Given the description of an element on the screen output the (x, y) to click on. 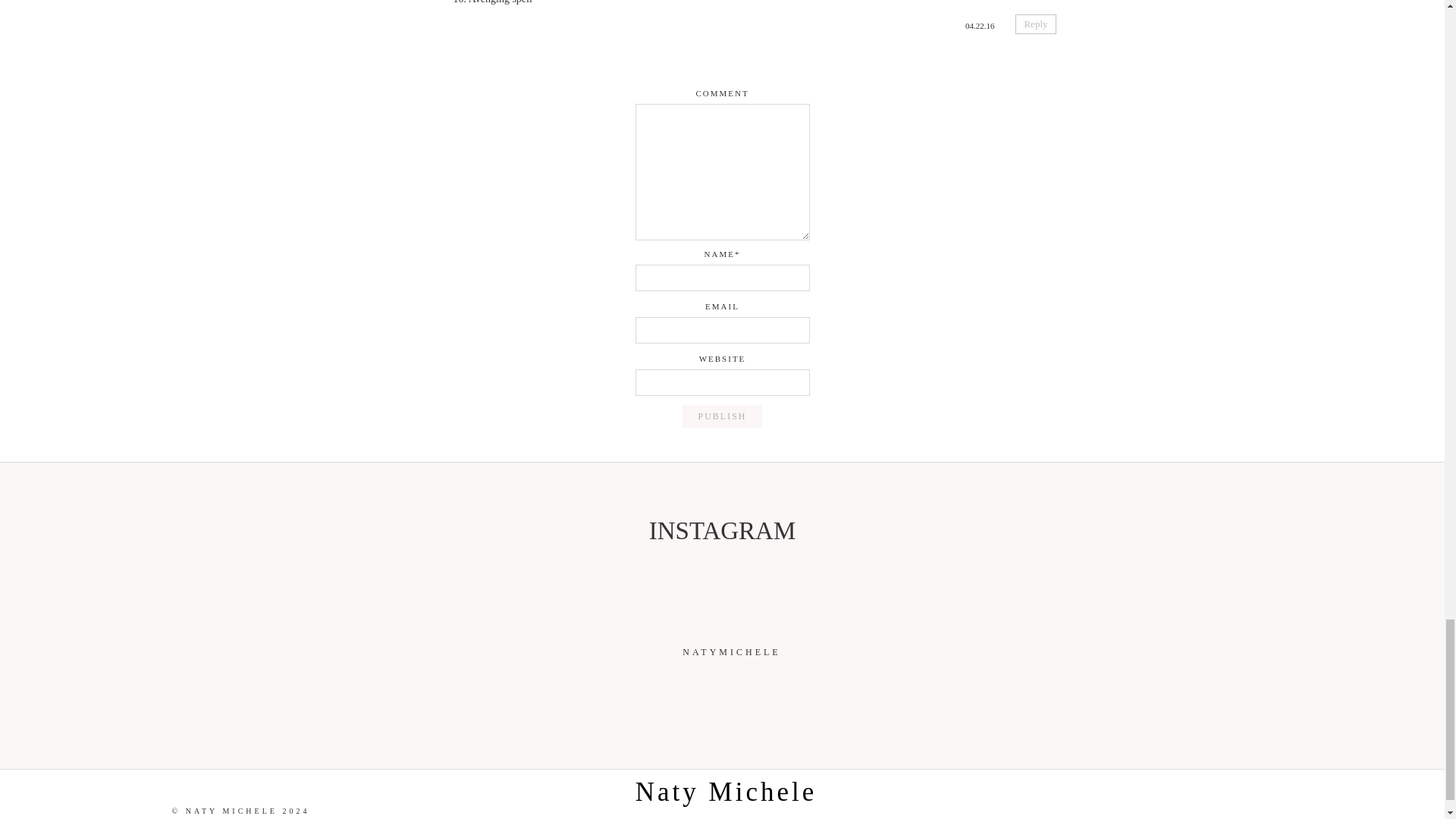
Publish (721, 415)
